Given the description of an element on the screen output the (x, y) to click on. 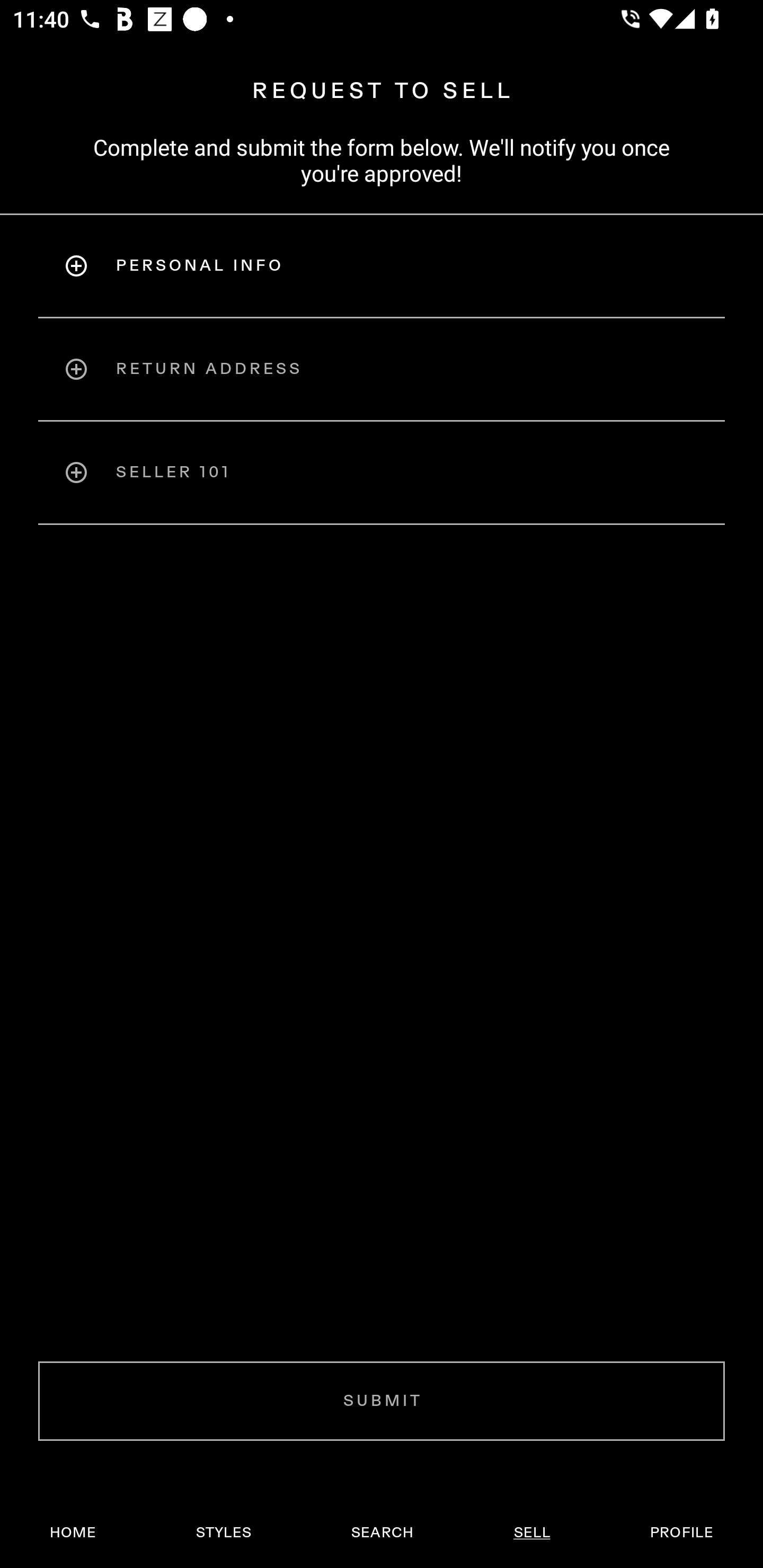
PERSONAL INFO (381, 265)
RETURN ADDRESS (381, 369)
SELLER 101 (381, 472)
SUBMIT (381, 1400)
HOME (72, 1532)
STYLES (222, 1532)
SEARCH (381, 1532)
SELL (531, 1532)
PROFILE (681, 1532)
